Given the description of an element on the screen output the (x, y) to click on. 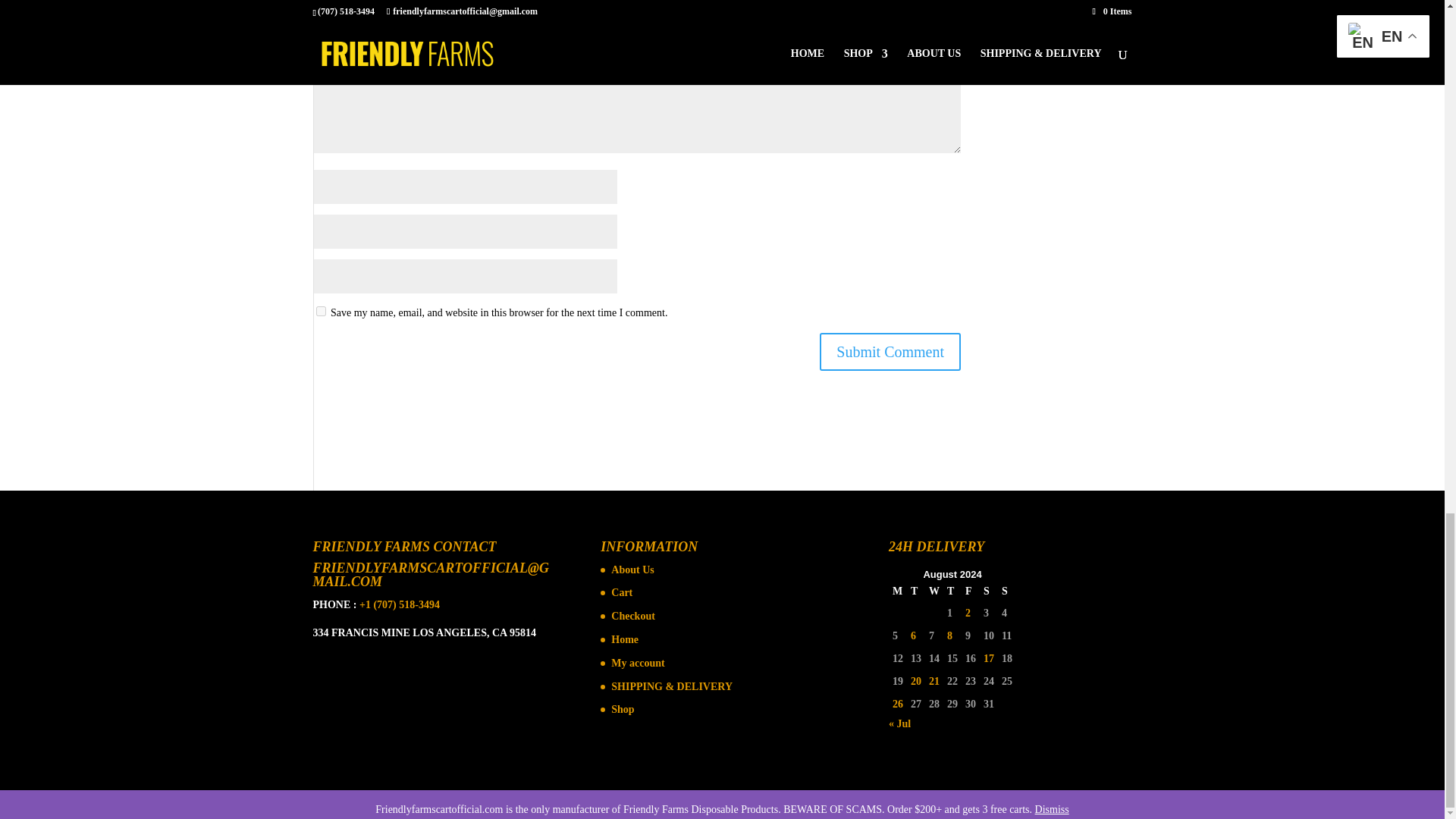
Shop (622, 708)
Submit Comment (889, 351)
Home (625, 639)
Submit Comment (889, 351)
Cart (621, 592)
yes (319, 311)
My account (637, 663)
About Us (632, 569)
Checkout (633, 615)
